Given the description of an element on the screen output the (x, y) to click on. 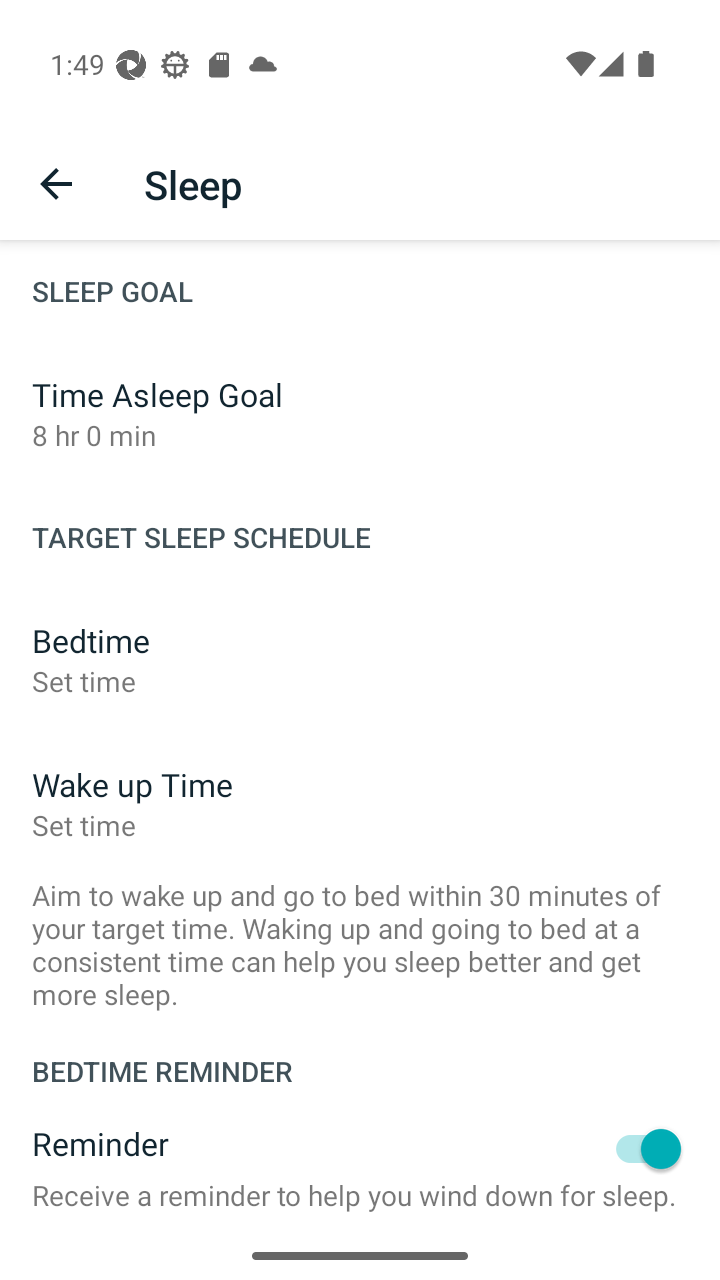
Navigate up (56, 184)
Time Asleep Goal 8 hr 0 min (360, 413)
Bedtime Set time (360, 659)
Wake up Time Set time (360, 803)
